Given the description of an element on the screen output the (x, y) to click on. 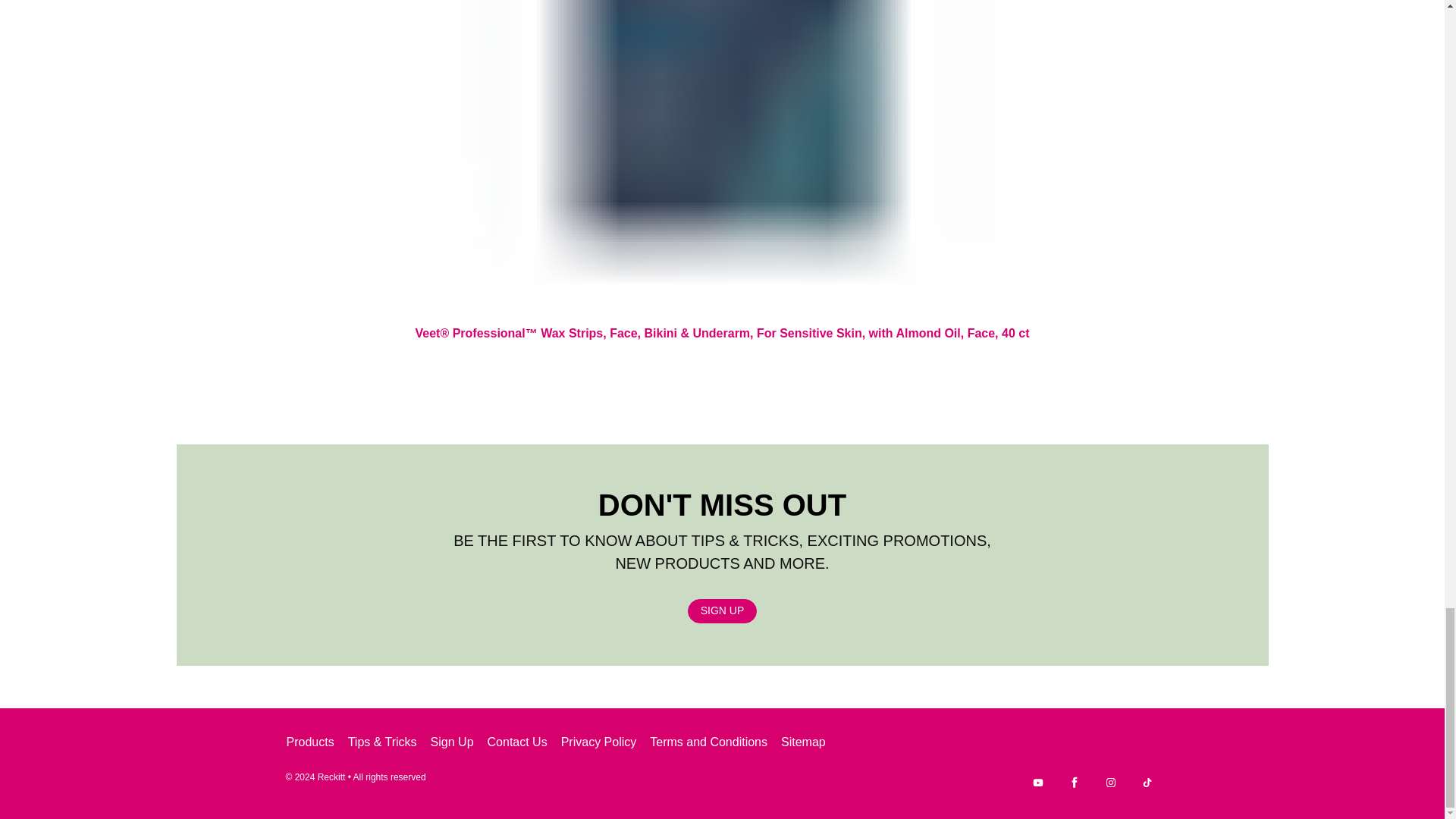
Tiktok (1146, 782)
SIGN UP (722, 610)
Privacy Policy (598, 742)
Privacy Policy (598, 742)
Sitemap (803, 742)
Contact Us (517, 742)
Contact Us (517, 742)
Products (309, 742)
Sitemap (803, 742)
Instagram (1109, 782)
Terms and Conditions (708, 742)
Facebook (1073, 782)
Products (309, 742)
Sign Up (451, 742)
SIGN UP (722, 610)
